Given the description of an element on the screen output the (x, y) to click on. 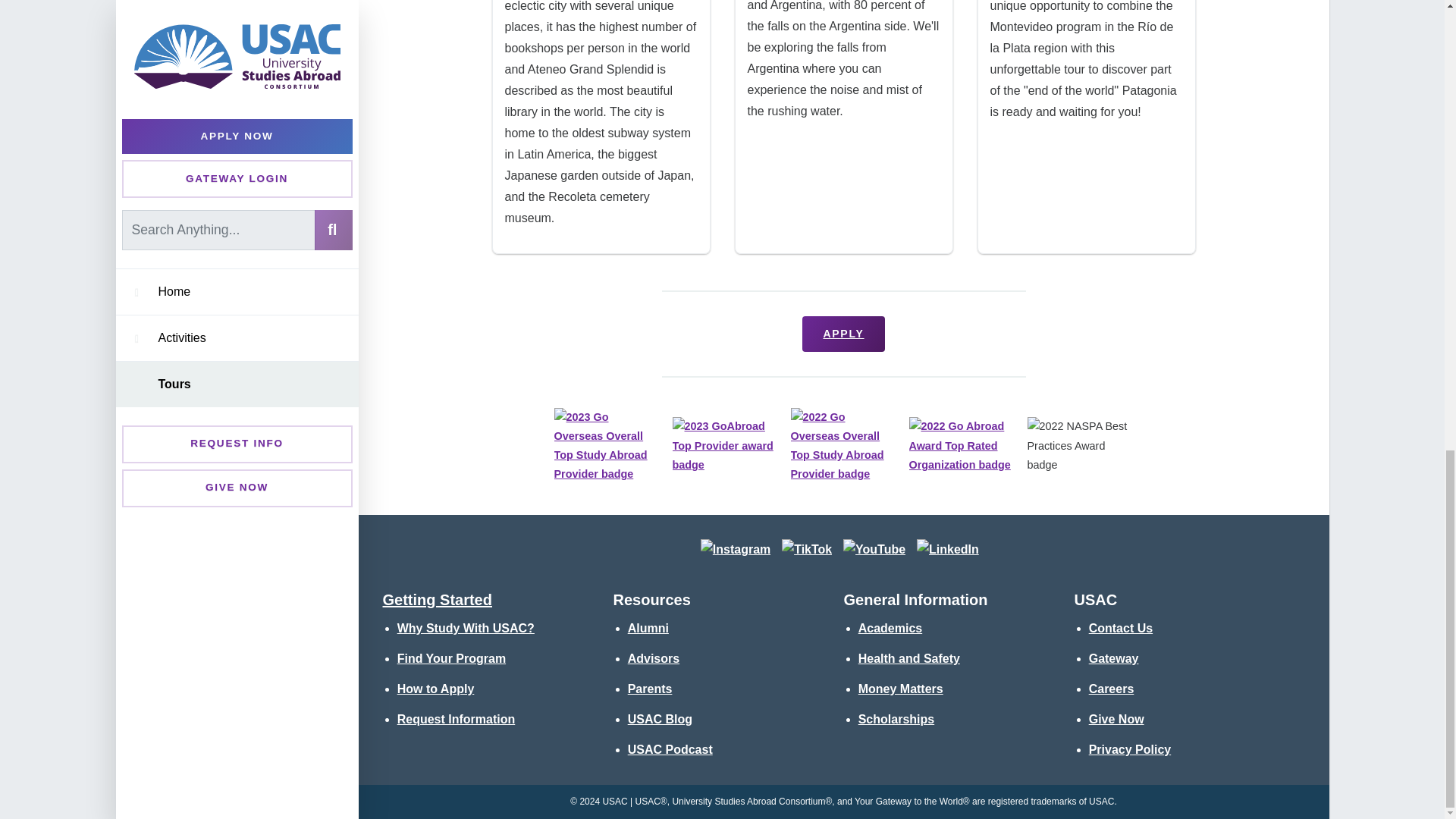
Go Overseas award (606, 445)
APPLY (843, 334)
Getting Started (436, 599)
Advisors (653, 658)
Why Study With USAC? (465, 627)
Go Abroad Award 2022 (961, 445)
How to Apply (435, 688)
Go Abroad award (724, 445)
Parents (649, 688)
Request Information (456, 718)
